Given the description of an element on the screen output the (x, y) to click on. 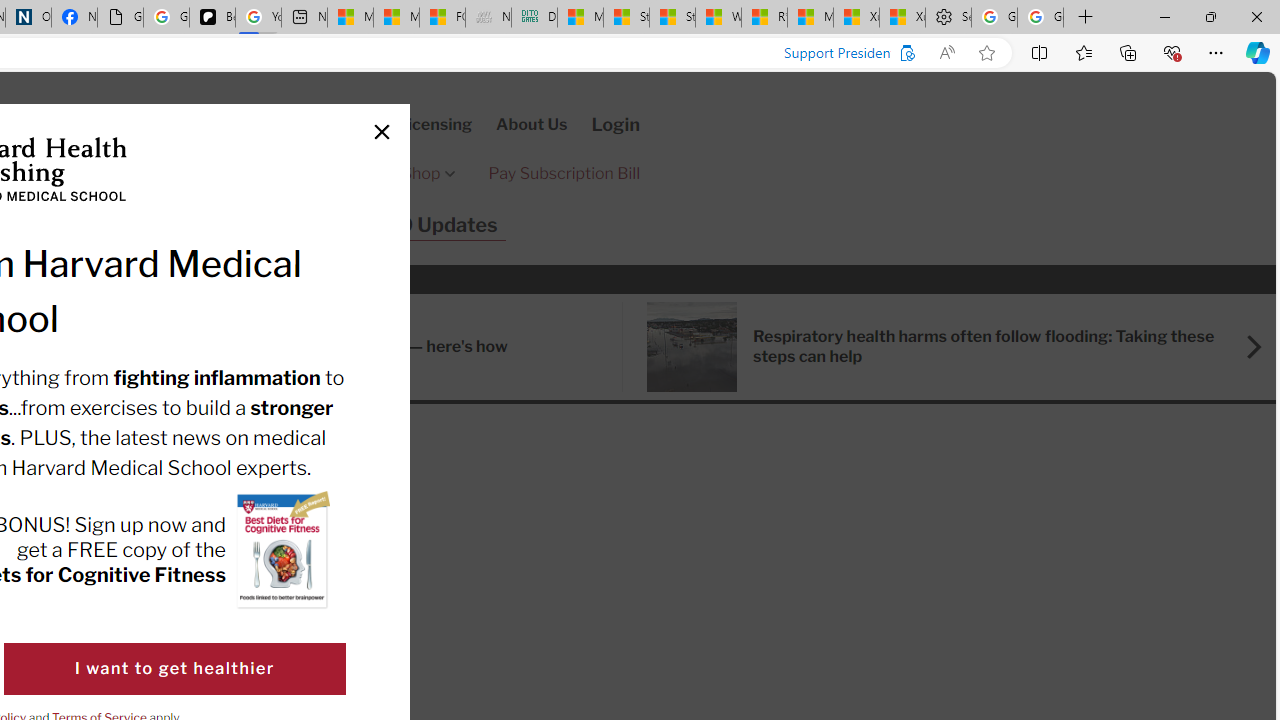
Blog (214, 225)
